Given the description of an element on the screen output the (x, y) to click on. 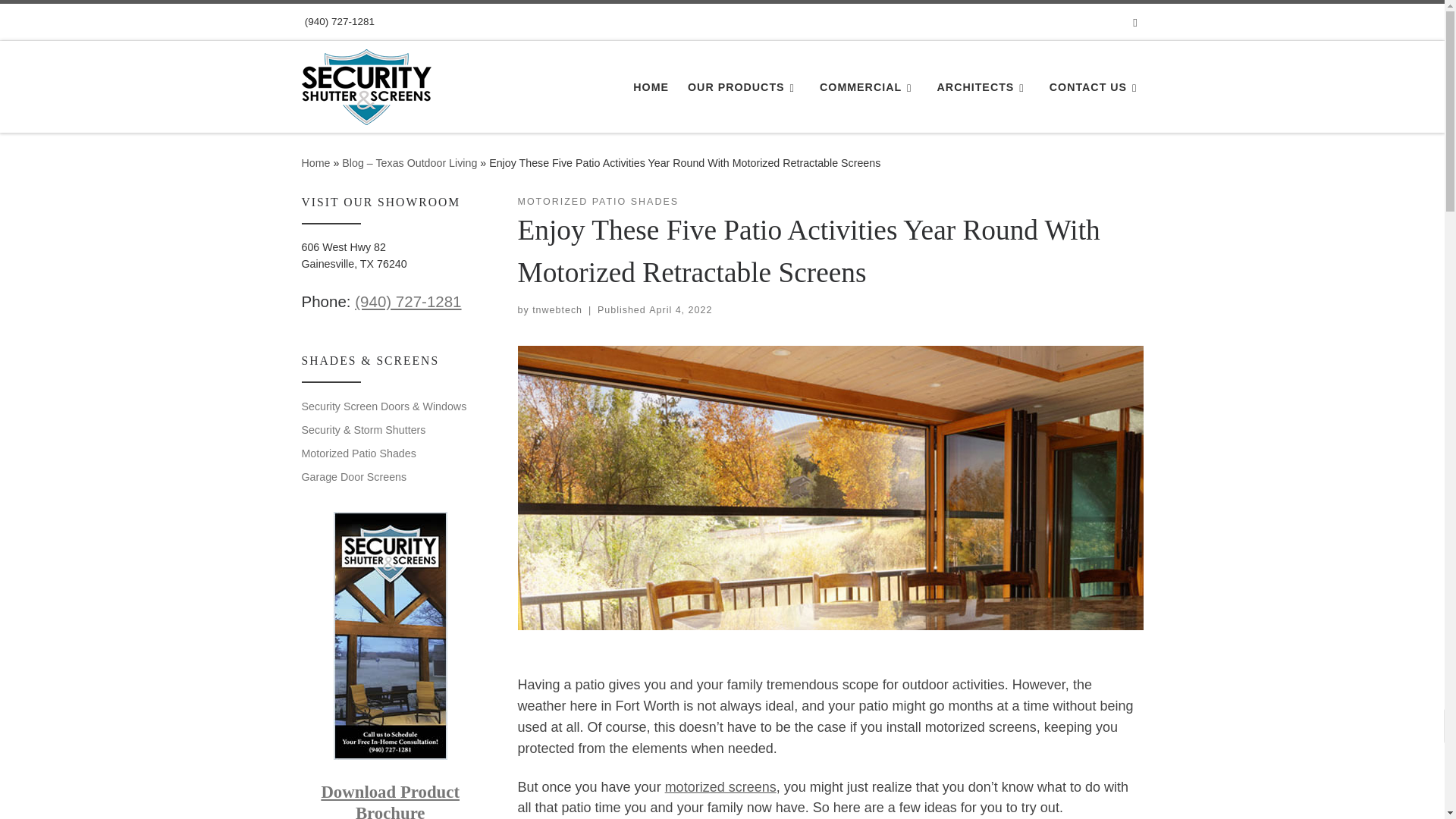
Skip to content (60, 20)
Search (1135, 22)
ARCHITECTS (983, 87)
Gainesville Motorized Patio Shades (720, 786)
9:23 pm (680, 309)
CONTACT US (1096, 87)
HOME (650, 87)
COMMERCIAL (869, 87)
OUR PRODUCTS (743, 87)
View all posts in Motorized Patio Shades (597, 201)
View all posts by tnwebtech (557, 309)
